Given the description of an element on the screen output the (x, y) to click on. 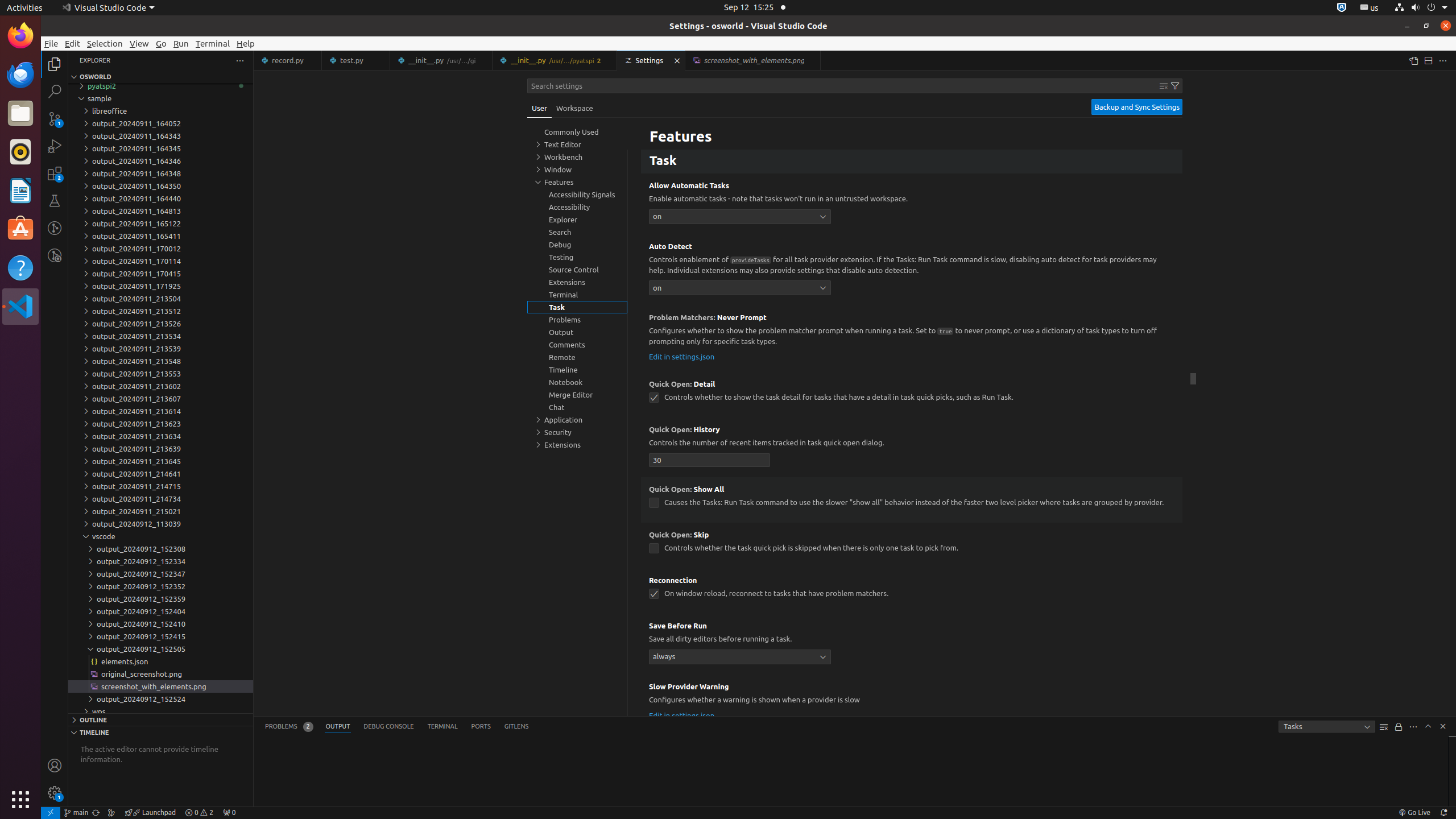
output_20240911_164346 Element type: tree-item (160, 160)
Security, group Element type: tree-item (577, 431)
output_20240911_164343 Element type: tree-item (160, 135)
sample Element type: tree-item (160, 98)
output_20240911_213634 Element type: tree-item (160, 435)
